Given the description of an element on the screen output the (x, y) to click on. 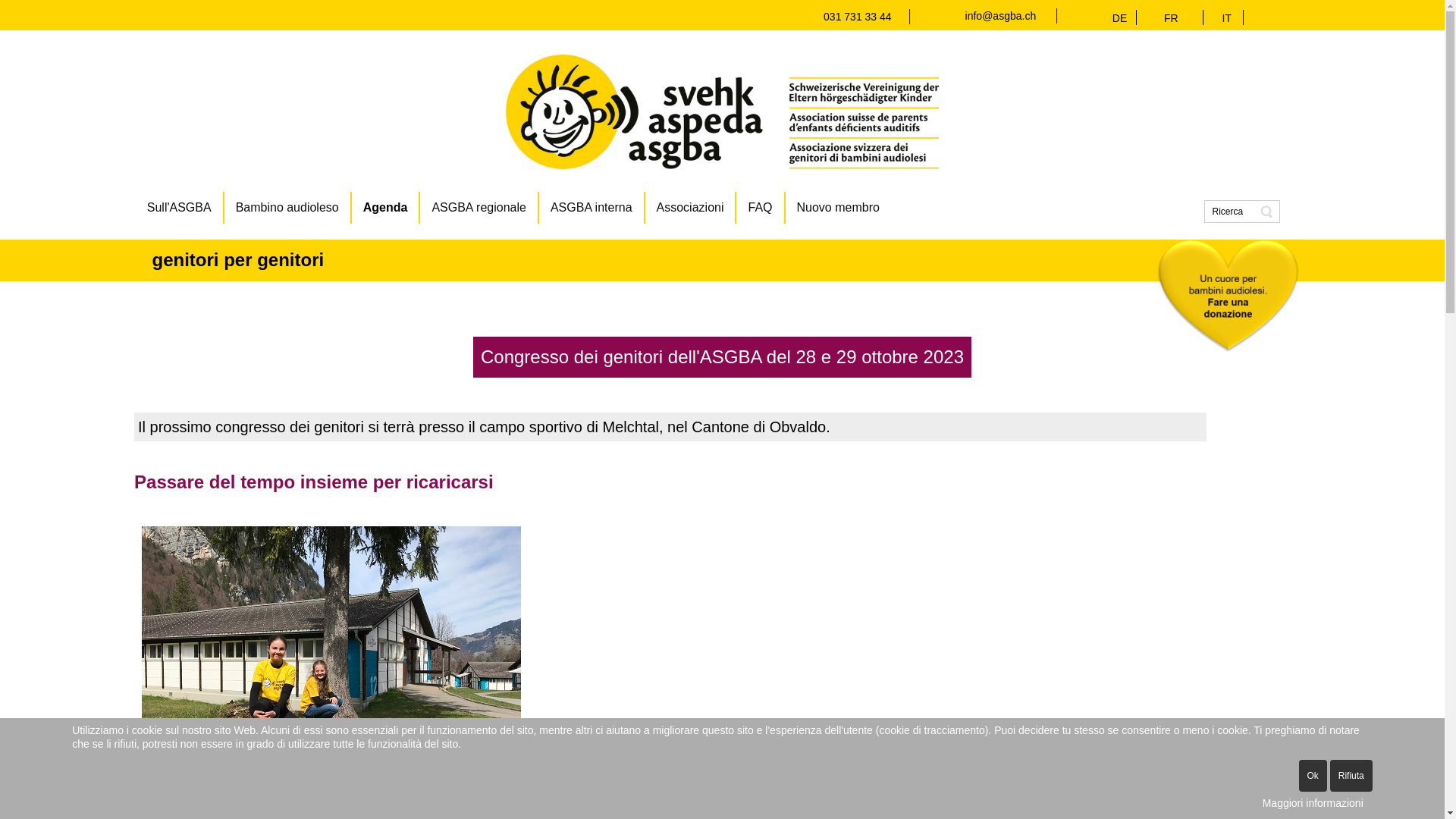
Sull'ASGBA Element type: text (179, 207)
Associazioni Element type: text (691, 207)
IT Element type: text (1226, 18)
Nuovo membro Element type: text (838, 207)
ASGBA regionale Element type: text (479, 207)
info@a Element type: text (982, 15)
Ok Element type: text (1312, 775)
FAQ Element type: text (760, 207)
Maggiori informazioni Element type: text (1312, 803)
FR Element type: text (1171, 18)
DE    Element type: text (1123, 18)
Rifiuta Element type: text (1351, 775)
ASGBA interna Element type: text (592, 207)
Bambino audioleso Element type: text (287, 207)
Agenda Element type: text (385, 207)
